Given the description of an element on the screen output the (x, y) to click on. 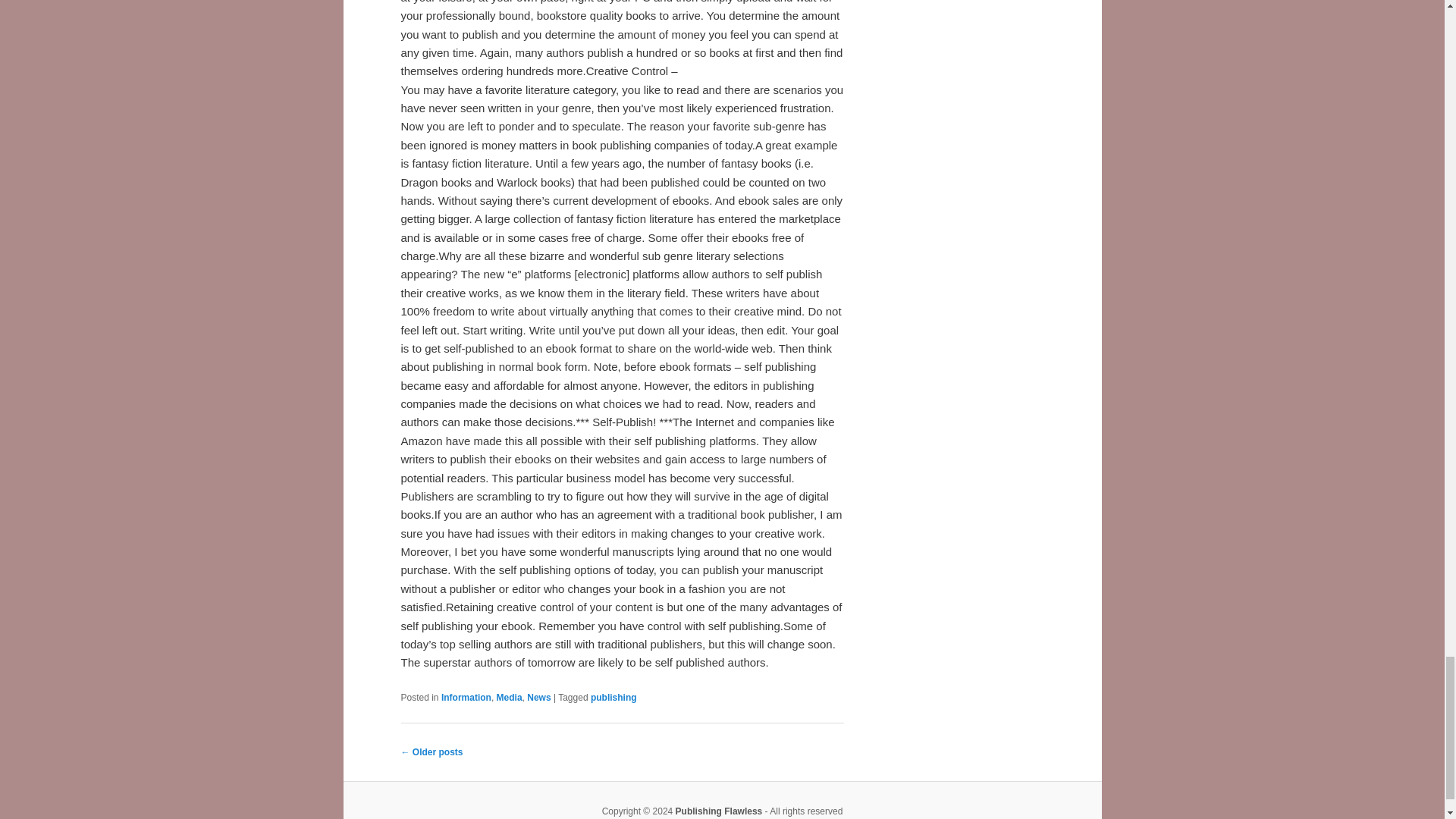
Information (466, 697)
News (538, 697)
Publishing Flawless (718, 810)
Media (509, 697)
publishing (614, 697)
Publishing Flawless (718, 810)
